Given the description of an element on the screen output the (x, y) to click on. 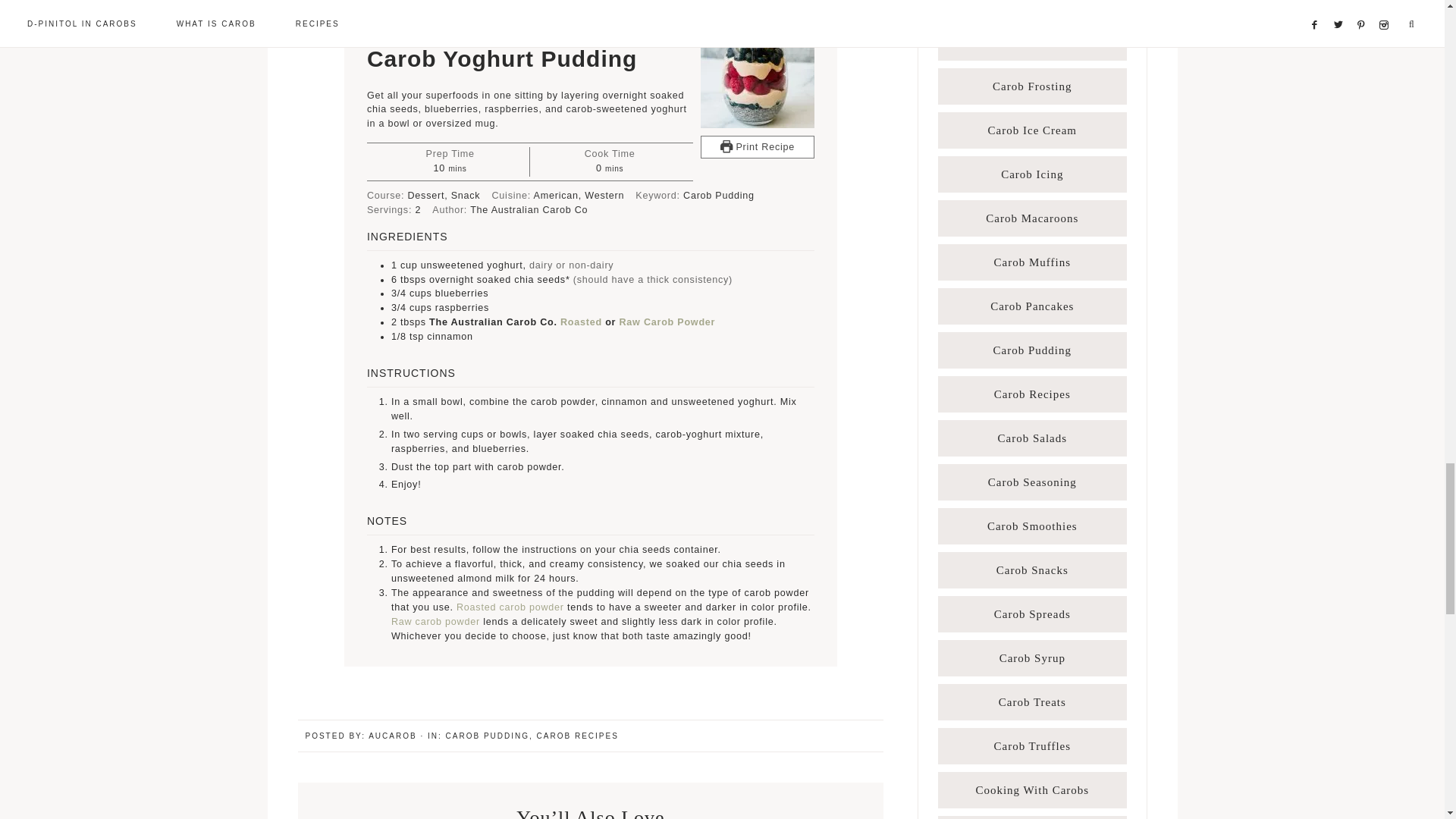
CAROB PUDDING (487, 736)
Raw Carob Powder (666, 321)
Roasted carob powder (510, 606)
Raw carob powder (435, 621)
AUCAROB (392, 736)
Roasted (581, 321)
CAROB RECIPES (577, 736)
Print Recipe (756, 146)
